Given the description of an element on the screen output the (x, y) to click on. 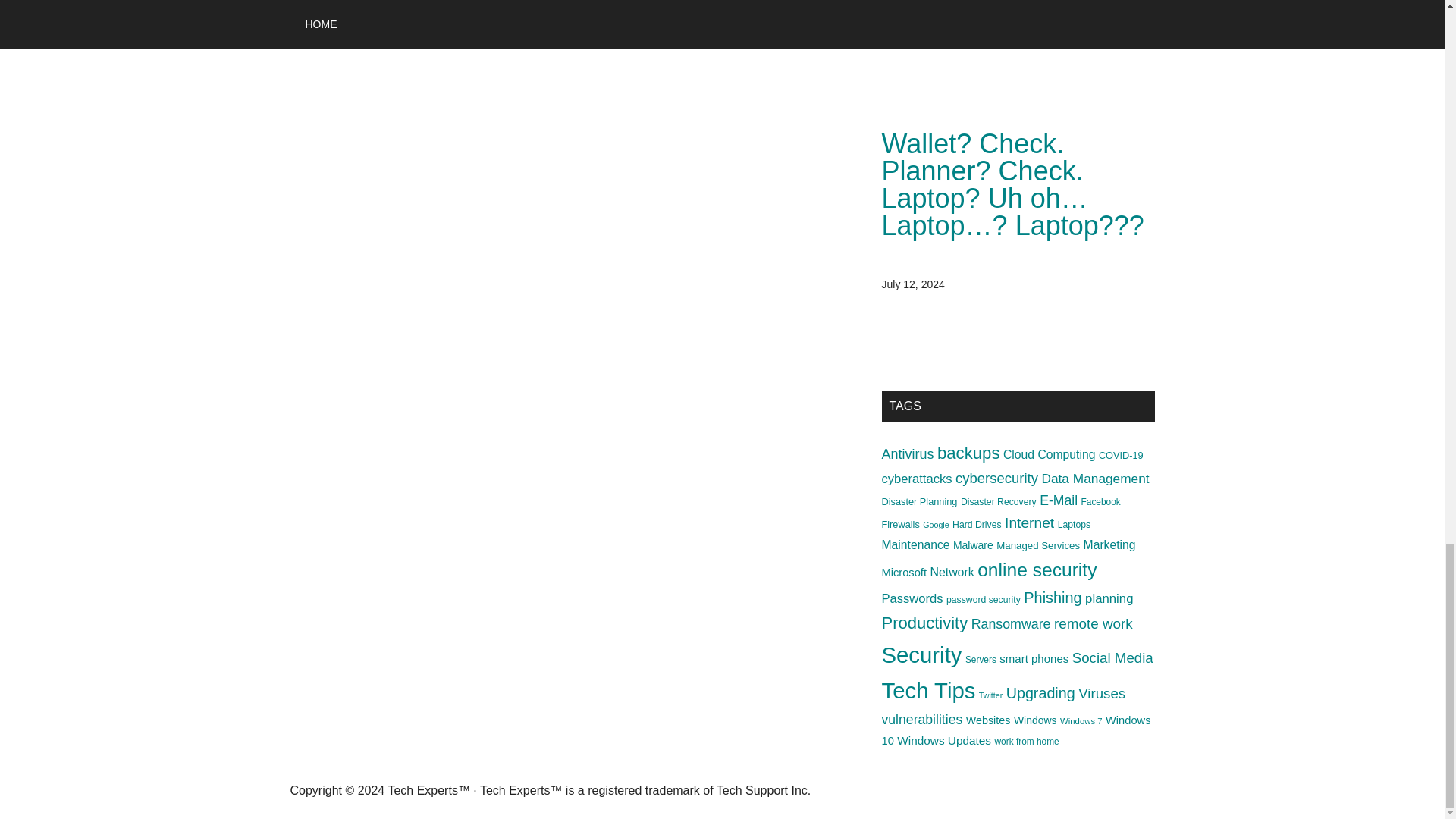
cyberattacks (916, 478)
COVID-19 (1120, 455)
cybersecurity (996, 478)
Cloud Computing (1048, 454)
Antivirus (906, 453)
backups (968, 452)
